Given the description of an element on the screen output the (x, y) to click on. 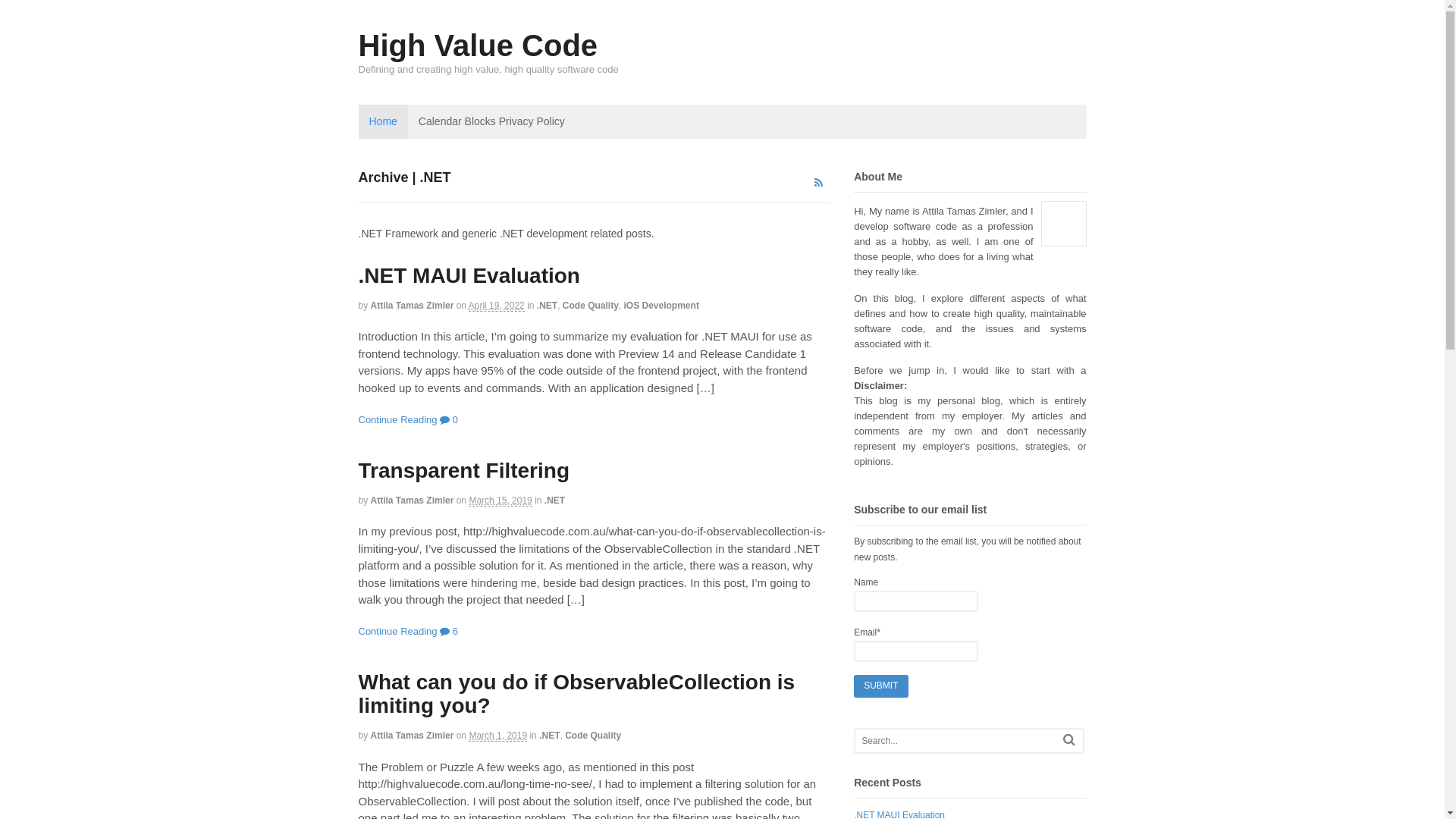
Transparent Filtering Element type: text (463, 470)
6 Element type: text (448, 631)
.NET Element type: text (549, 735)
Search Element type: text (1069, 739)
.NET Element type: text (554, 500)
Continue Reading Element type: text (396, 631)
iOS Development Element type: text (661, 305)
Code Quality Element type: text (592, 735)
Home Element type: text (382, 121)
What can you do if ObservableCollection is limiting you? Element type: text (575, 693)
.NET Element type: text (546, 305)
.NET MAUI Evaluation Element type: text (468, 275)
Attila Tamas Zimler Element type: text (412, 500)
Submit Element type: text (880, 685)
Continue Reading Element type: text (396, 419)
0 Element type: text (448, 419)
Attila Tamas Zimler Element type: text (412, 735)
Code Quality Element type: text (590, 305)
Calendar Blocks Privacy Policy Element type: text (491, 121)
Attila Tamas Zimler Element type: text (412, 305)
High Value Code Element type: text (477, 45)
